Given the description of an element on the screen output the (x, y) to click on. 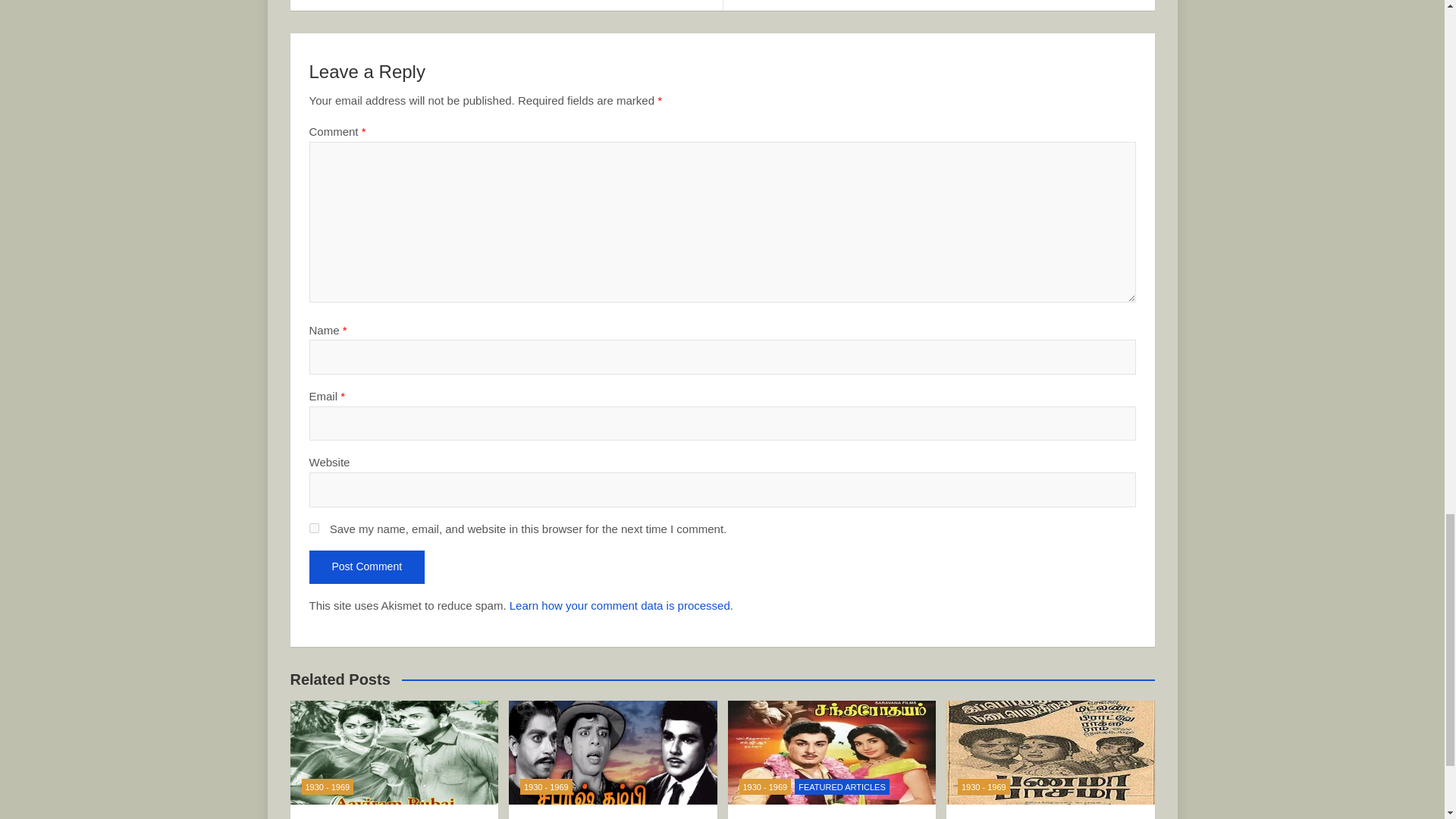
yes (313, 528)
Post Comment (366, 566)
